Given the description of an element on the screen output the (x, y) to click on. 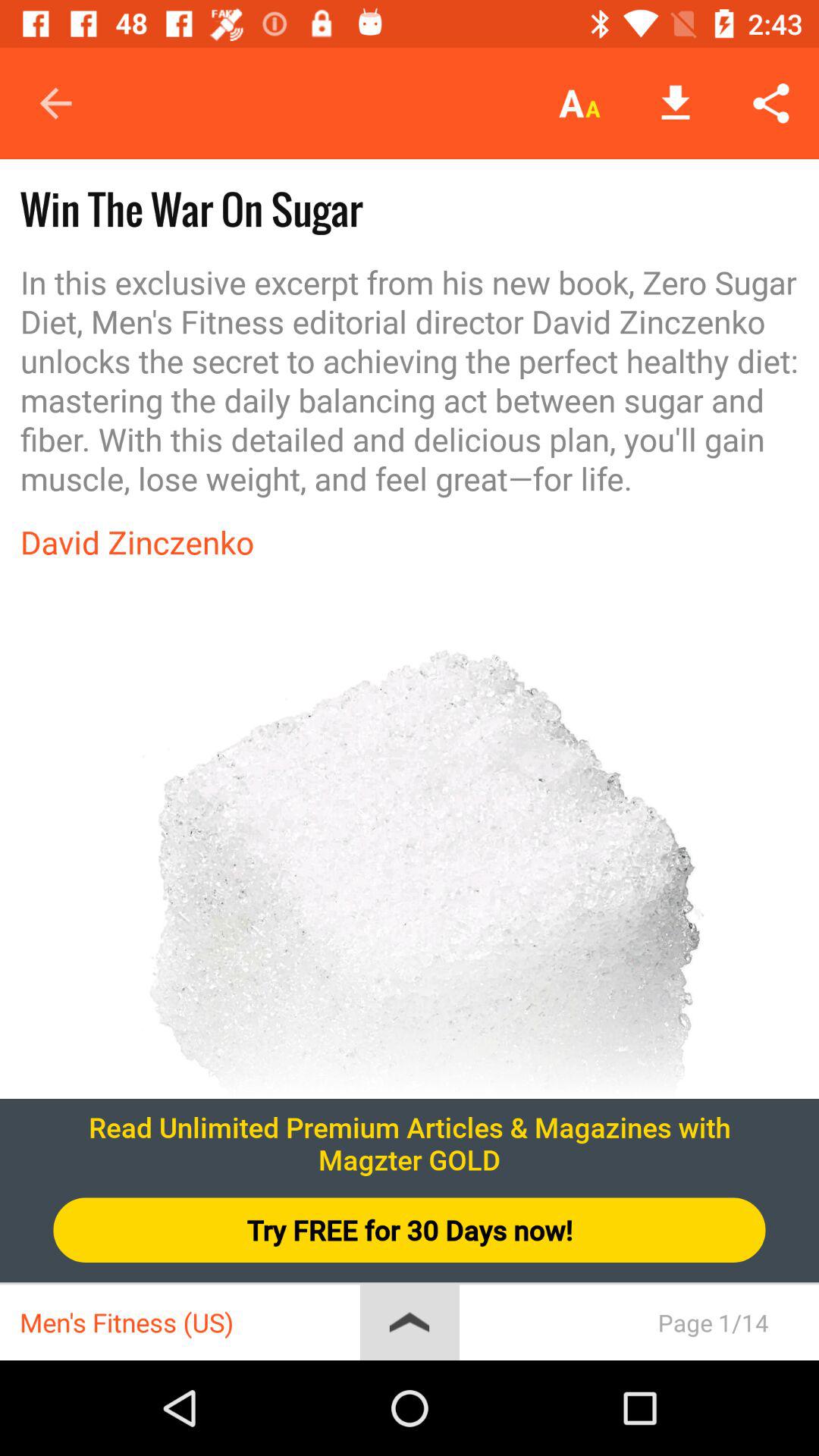
click item below read unlimited premium icon (409, 1229)
